Given the description of an element on the screen output the (x, y) to click on. 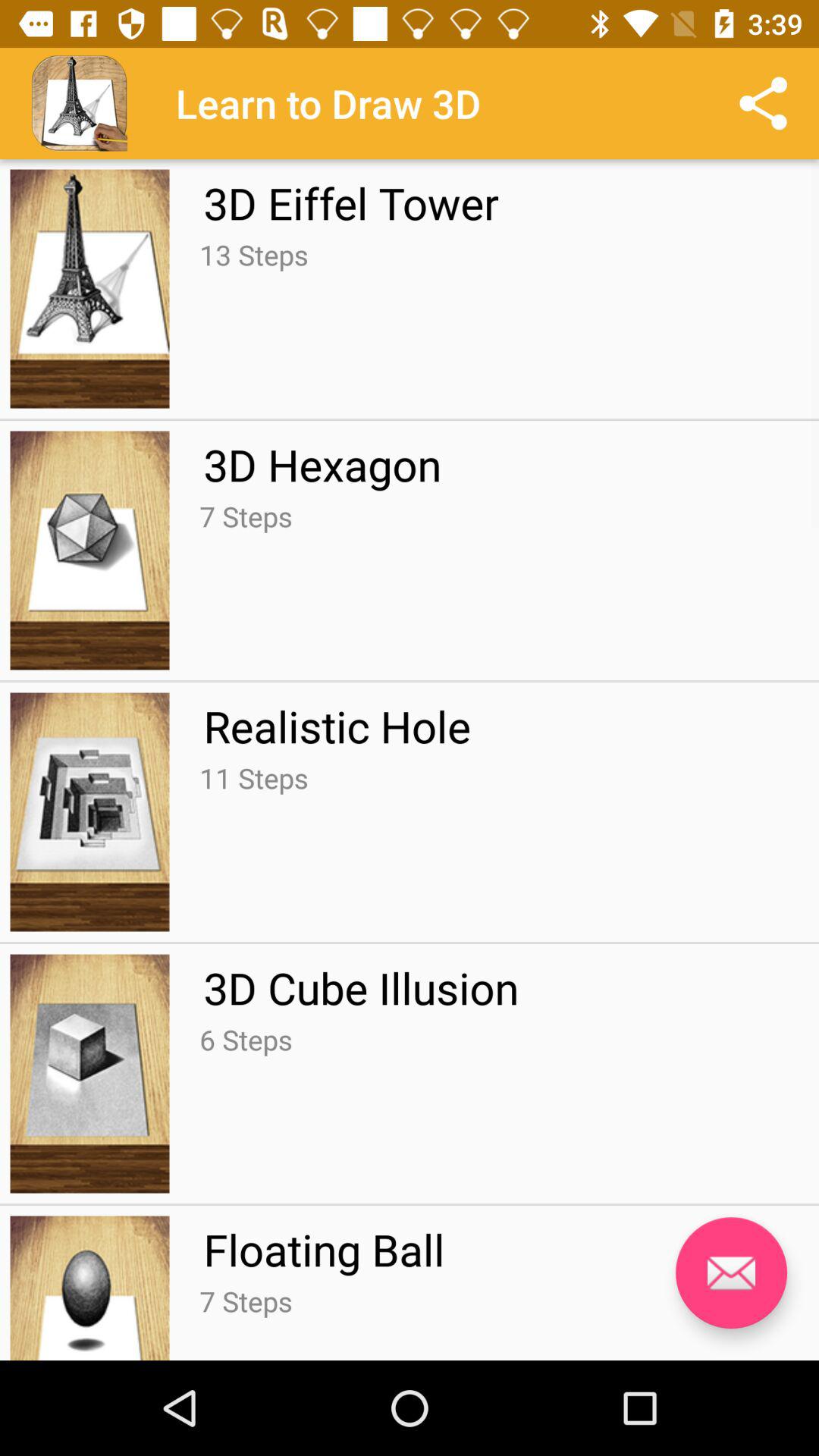
tap icon at the bottom right corner (731, 1272)
